Given the description of an element on the screen output the (x, y) to click on. 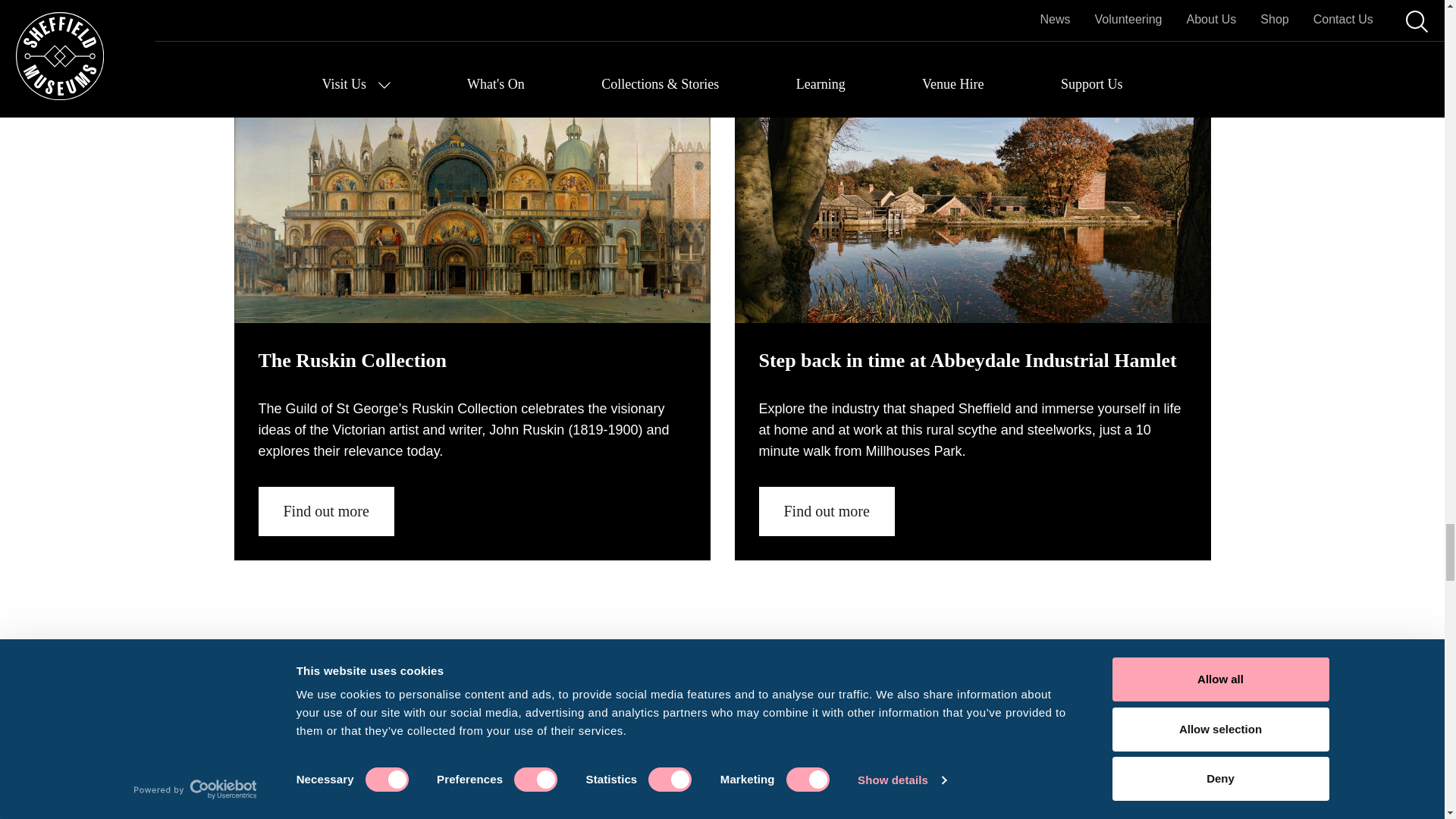
The Ruskin Collection - Find out more (325, 511)
